Given the description of an element on the screen output the (x, y) to click on. 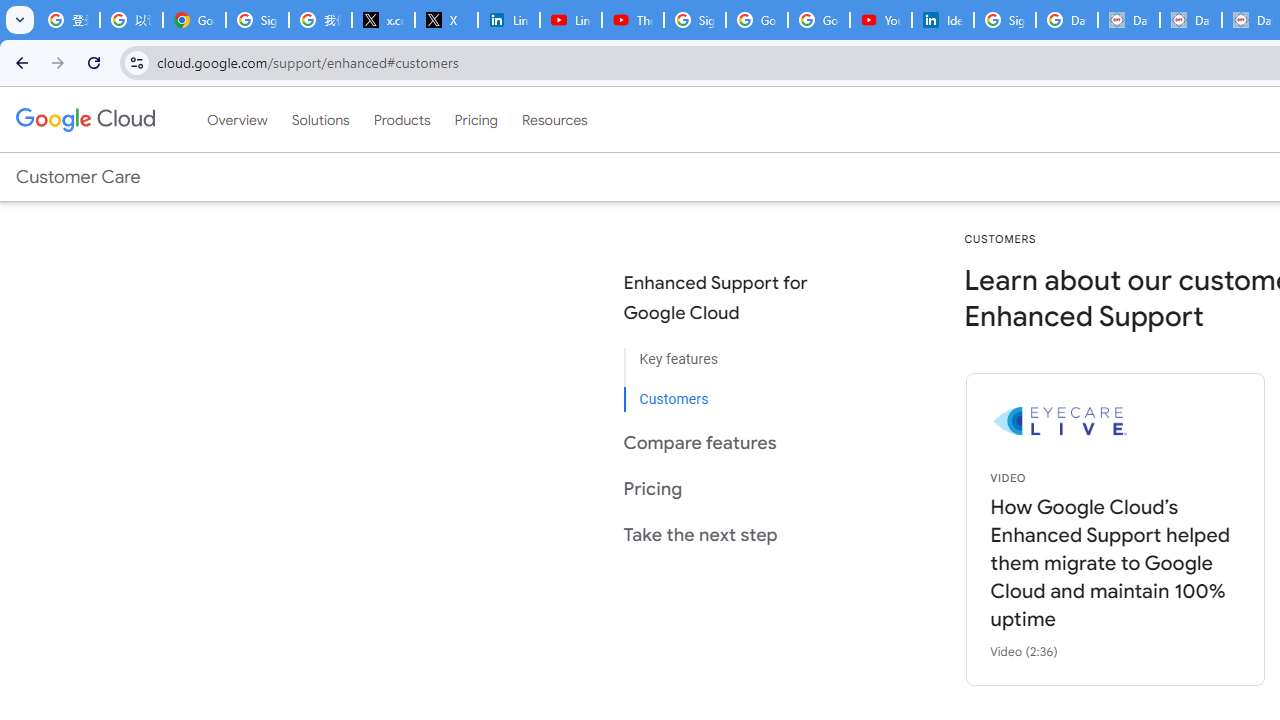
Pricing (476, 119)
Google Cloud (84, 119)
LinkedIn - YouTube (570, 20)
Sign in - Google Accounts (257, 20)
Solutions (320, 119)
Key features (732, 359)
Take the next step (732, 534)
